Given the description of an element on the screen output the (x, y) to click on. 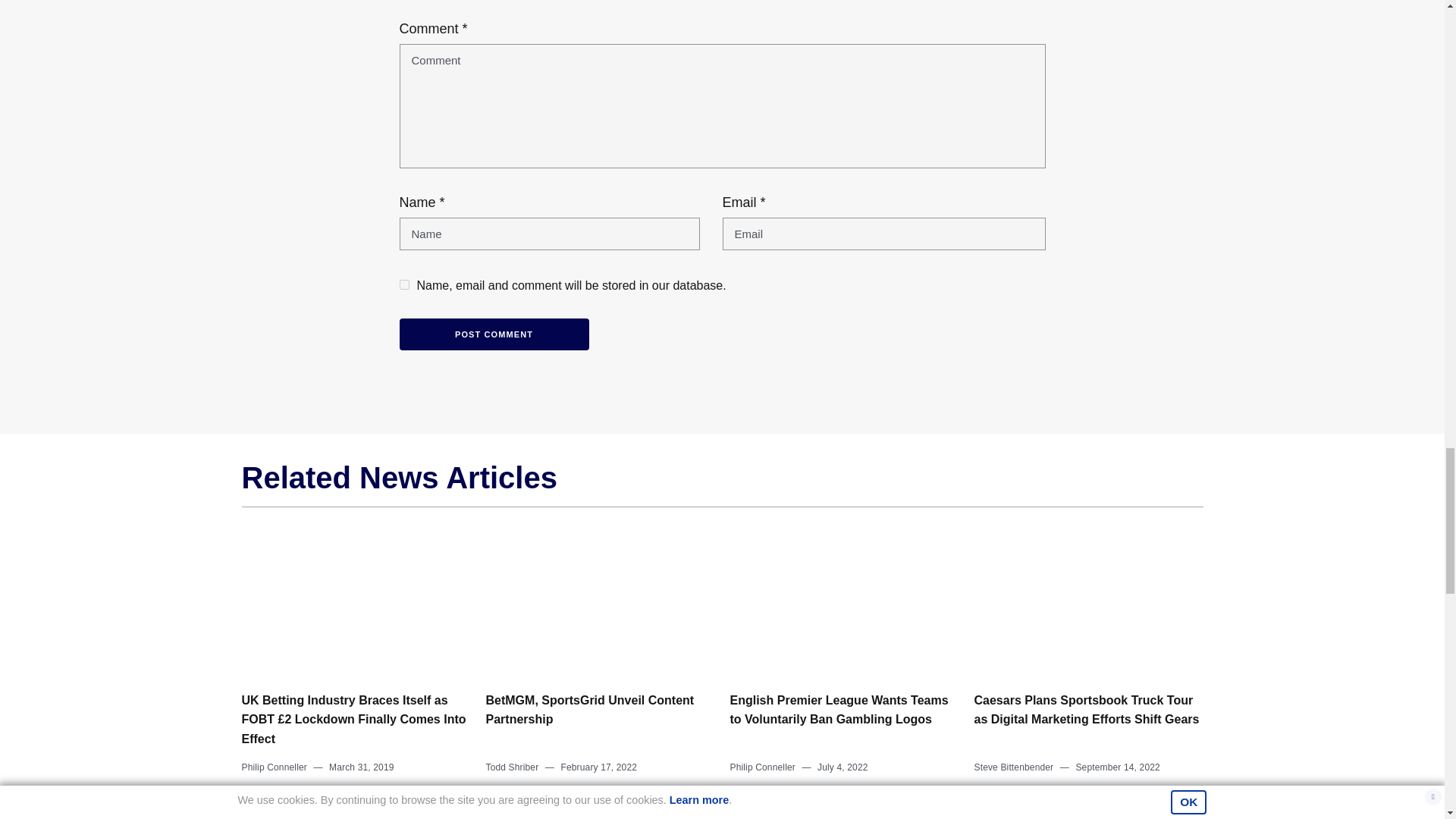
yes (403, 284)
Post Comment (493, 334)
